Given the description of an element on the screen output the (x, y) to click on. 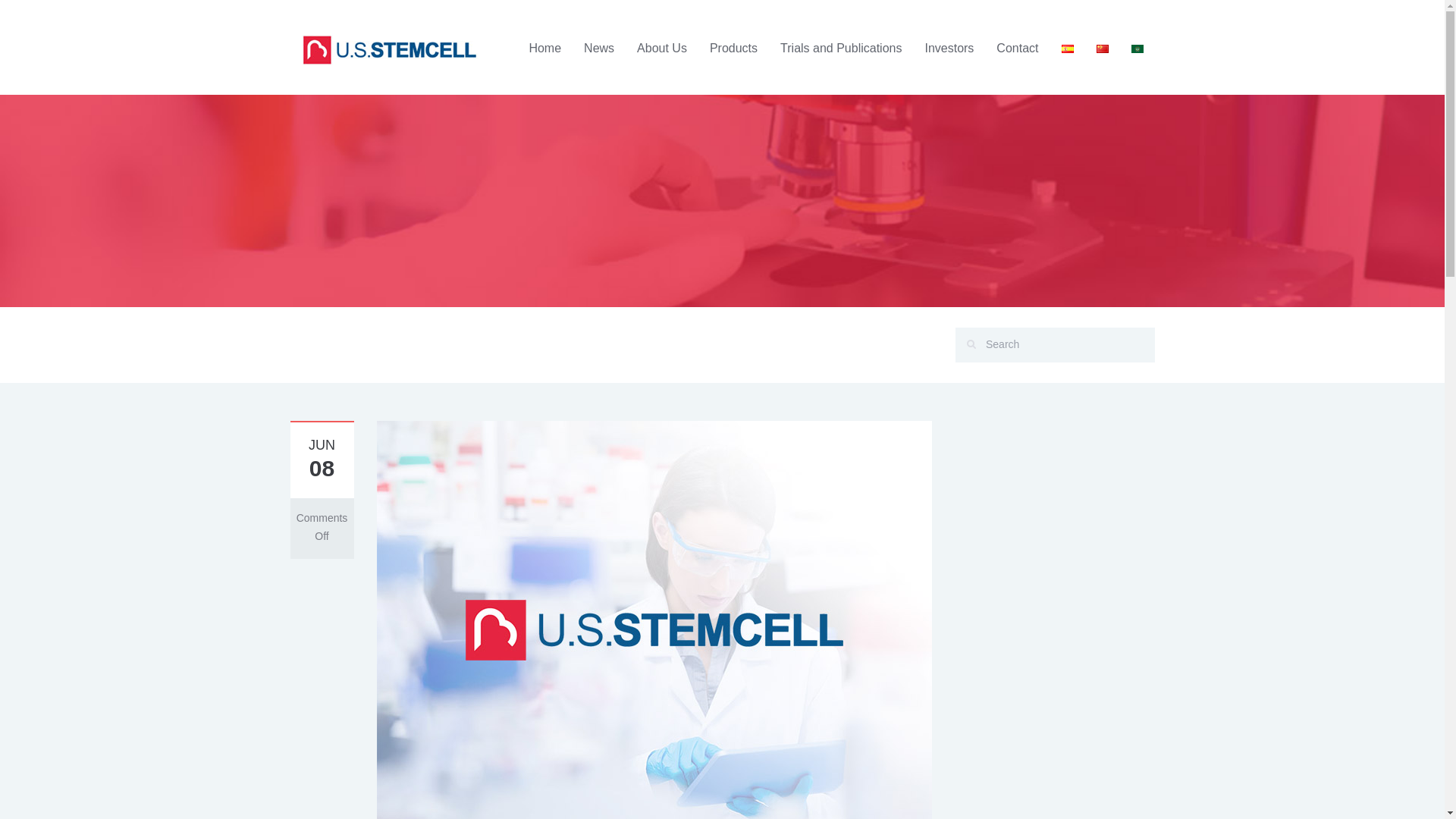
Investors (948, 48)
Contact (1017, 48)
News (599, 48)
About Us (662, 48)
Home (544, 48)
Trials and Publications (840, 48)
Products (733, 48)
